Given the description of an element on the screen output the (x, y) to click on. 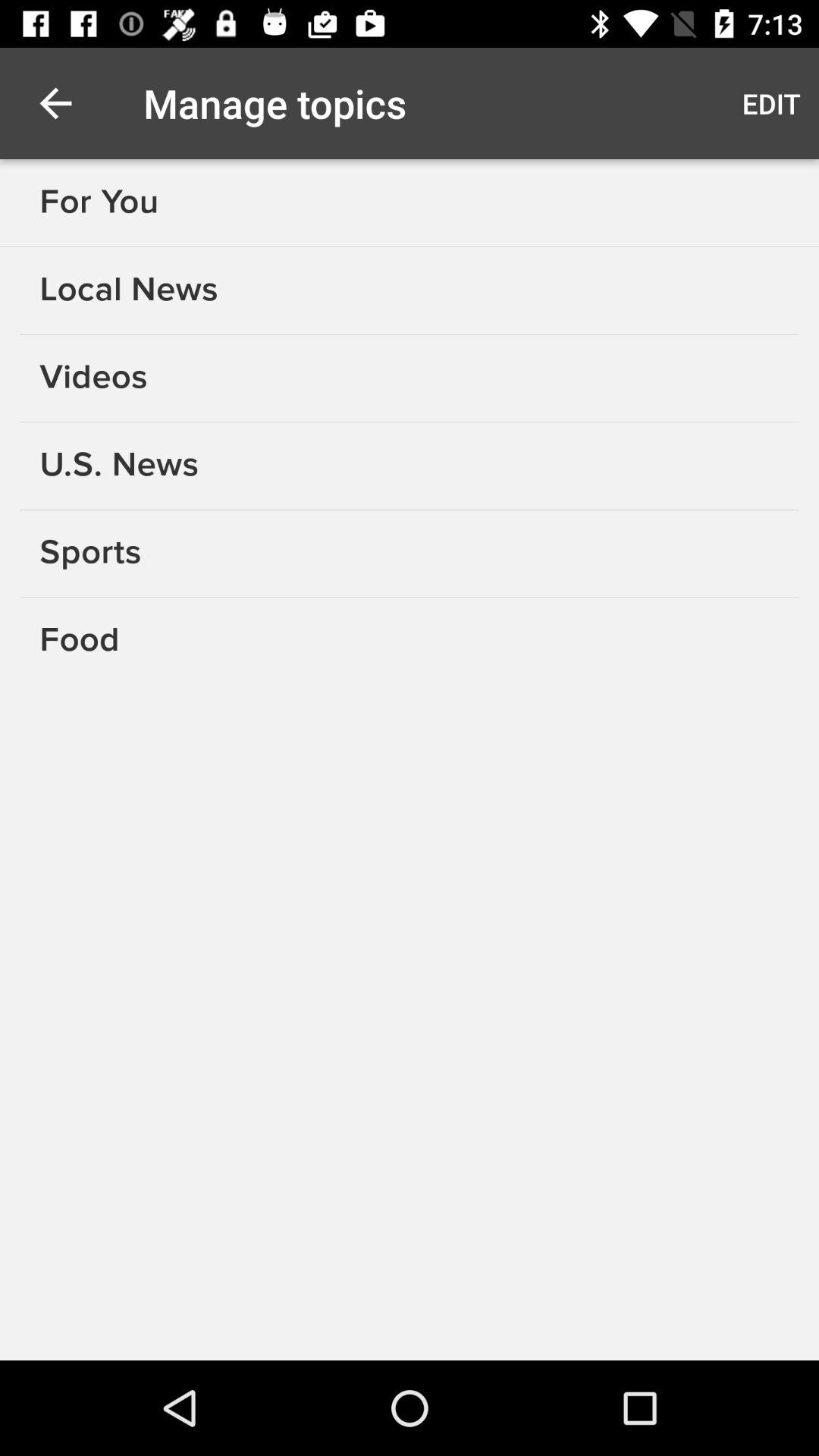
turn off item next to the manage topics (771, 103)
